Given the description of an element on the screen output the (x, y) to click on. 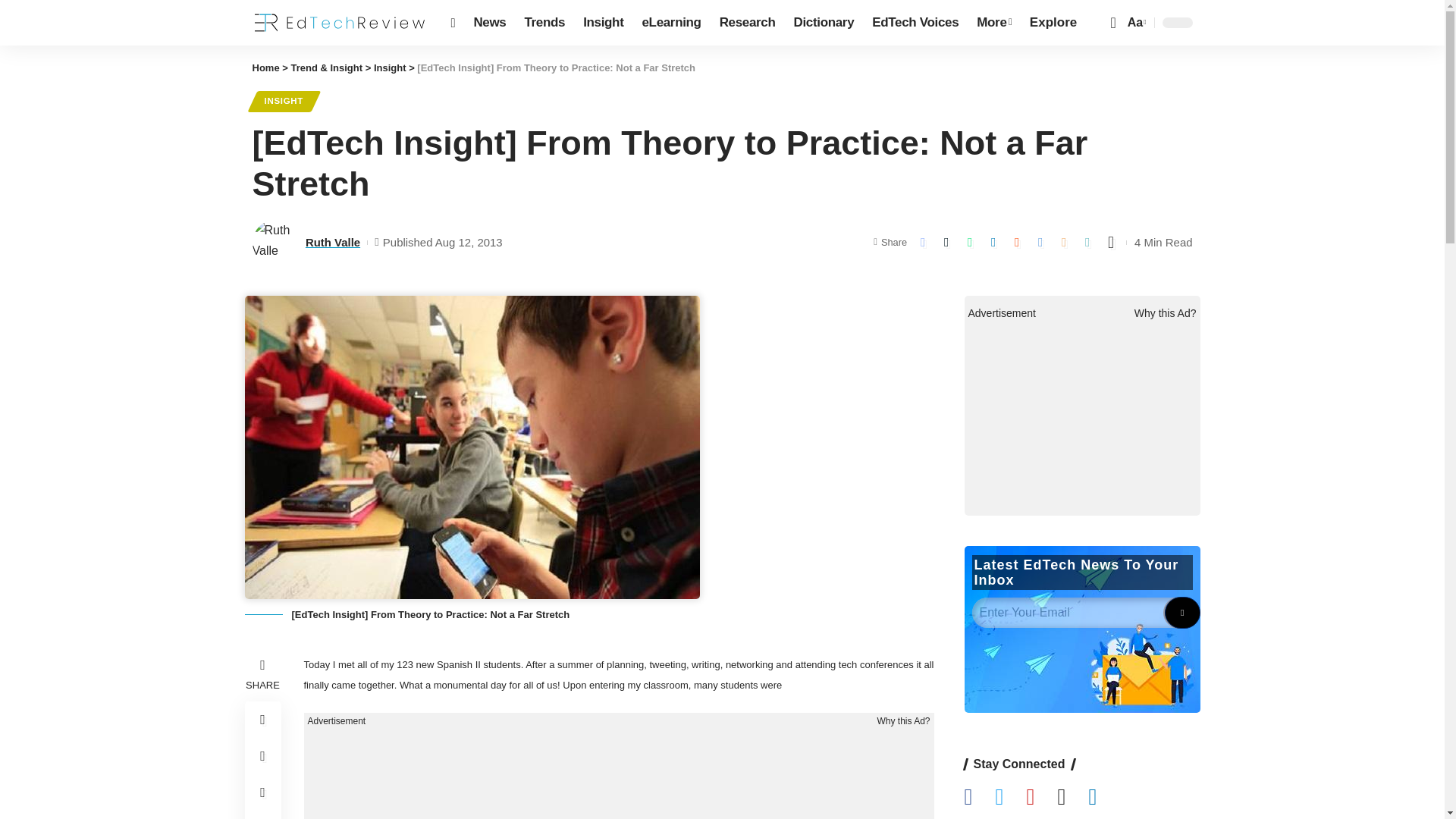
Go to EdTechReview. (265, 67)
Follow EdTechReview on Twitter (1010, 797)
Trends (544, 22)
Follow EdTechReview on Facebook (979, 797)
Go to the Insight Category archives. (390, 67)
More (994, 22)
EdTech Voices (915, 22)
Insight (602, 22)
EdTechReview (338, 22)
Explore (1053, 22)
